Given the description of an element on the screen output the (x, y) to click on. 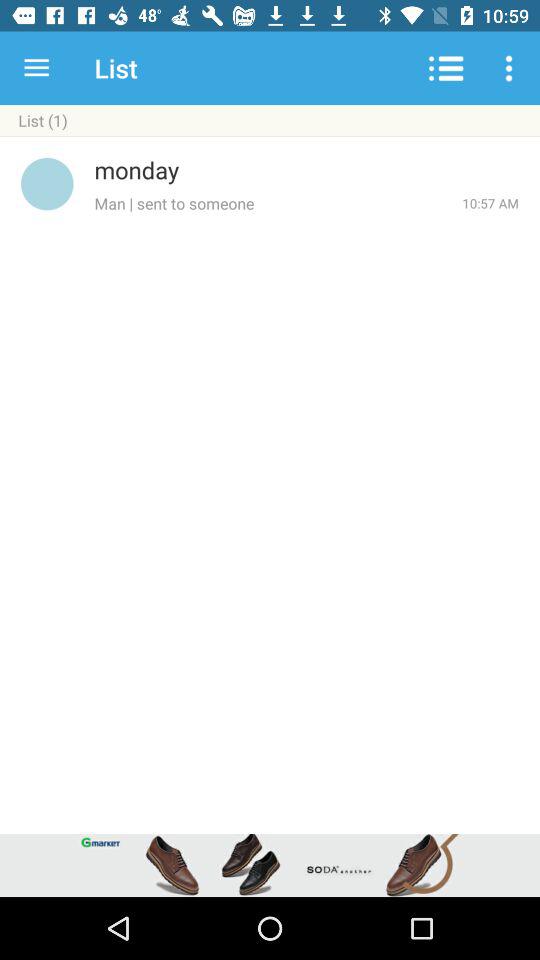
tap man sent to item (278, 203)
